Given the description of an element on the screen output the (x, y) to click on. 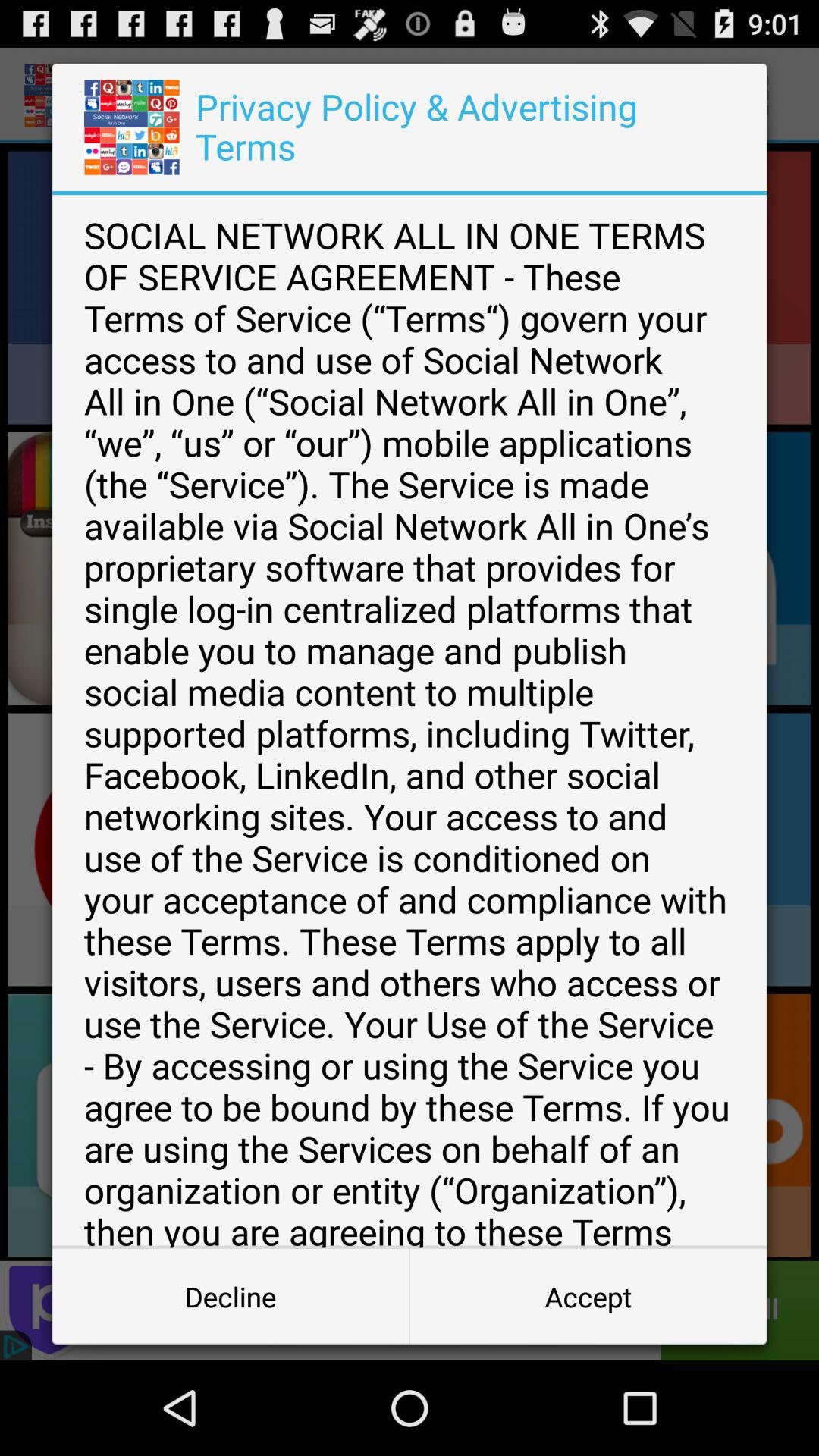
turn off button to the right of the decline (588, 1296)
